Given the description of an element on the screen output the (x, y) to click on. 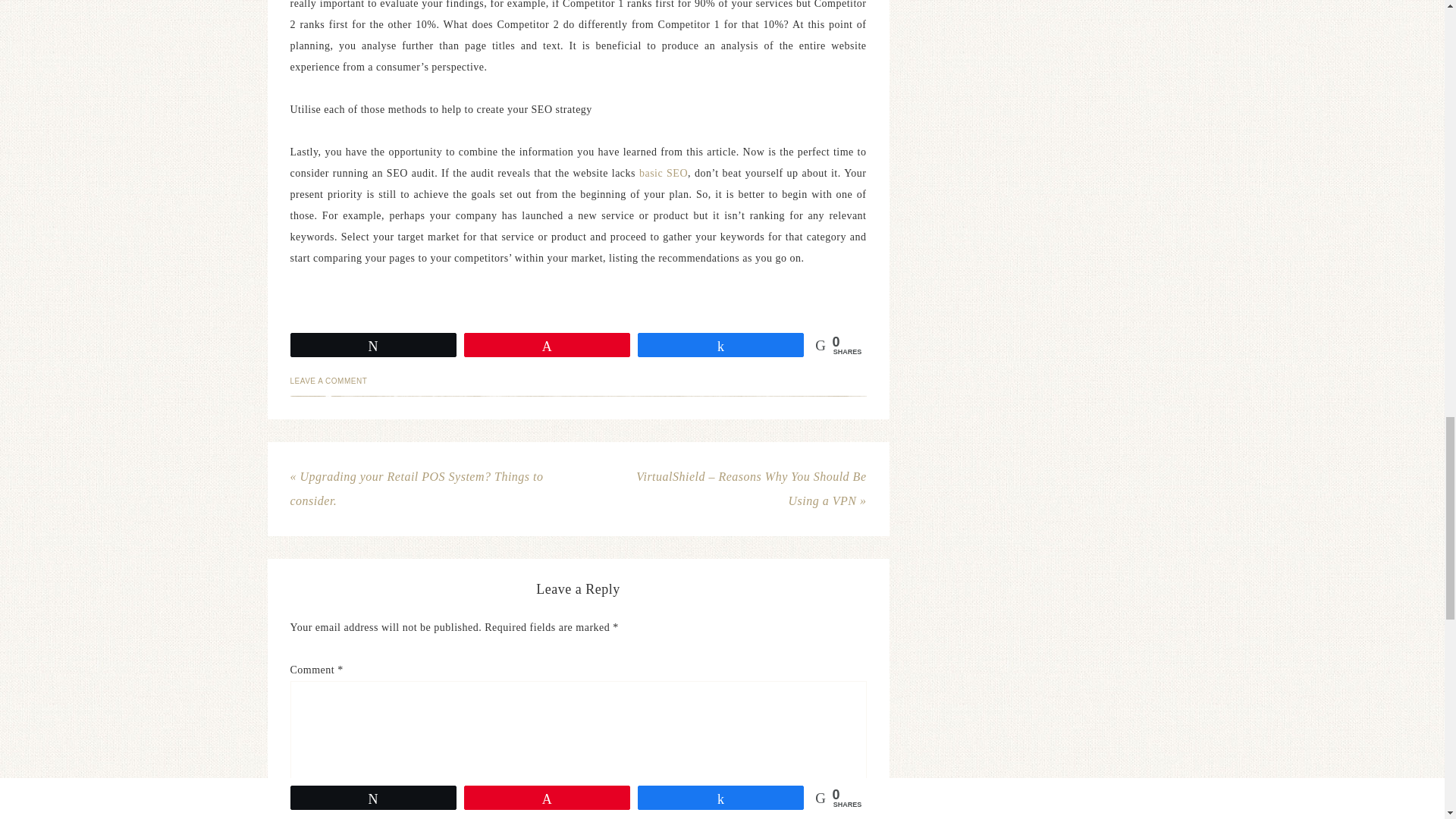
basic SEO (663, 173)
LEAVE A COMMENT (327, 380)
